Given the description of an element on the screen output the (x, y) to click on. 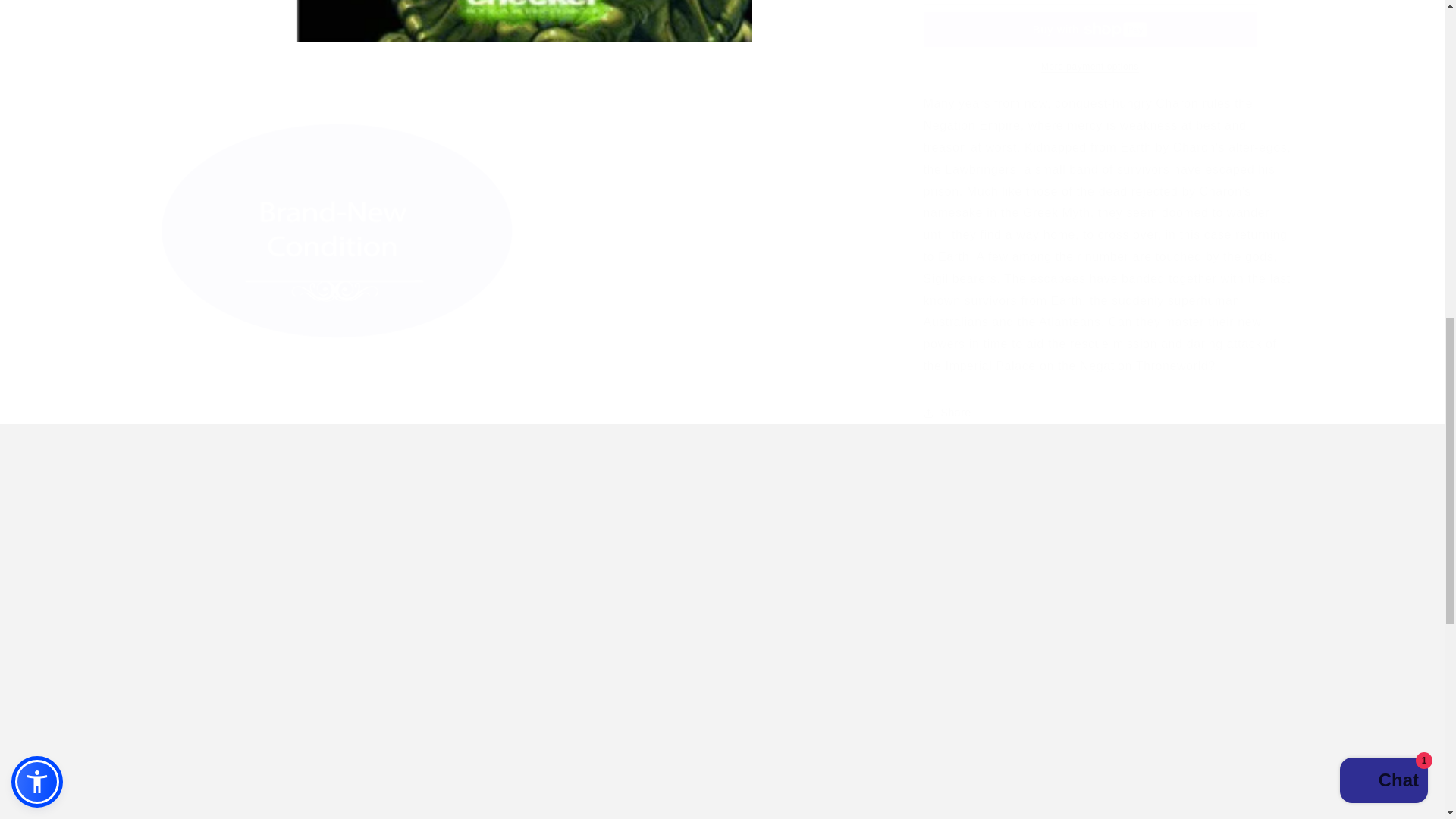
Open media 1 in modal (522, 13)
